Given the description of an element on the screen output the (x, y) to click on. 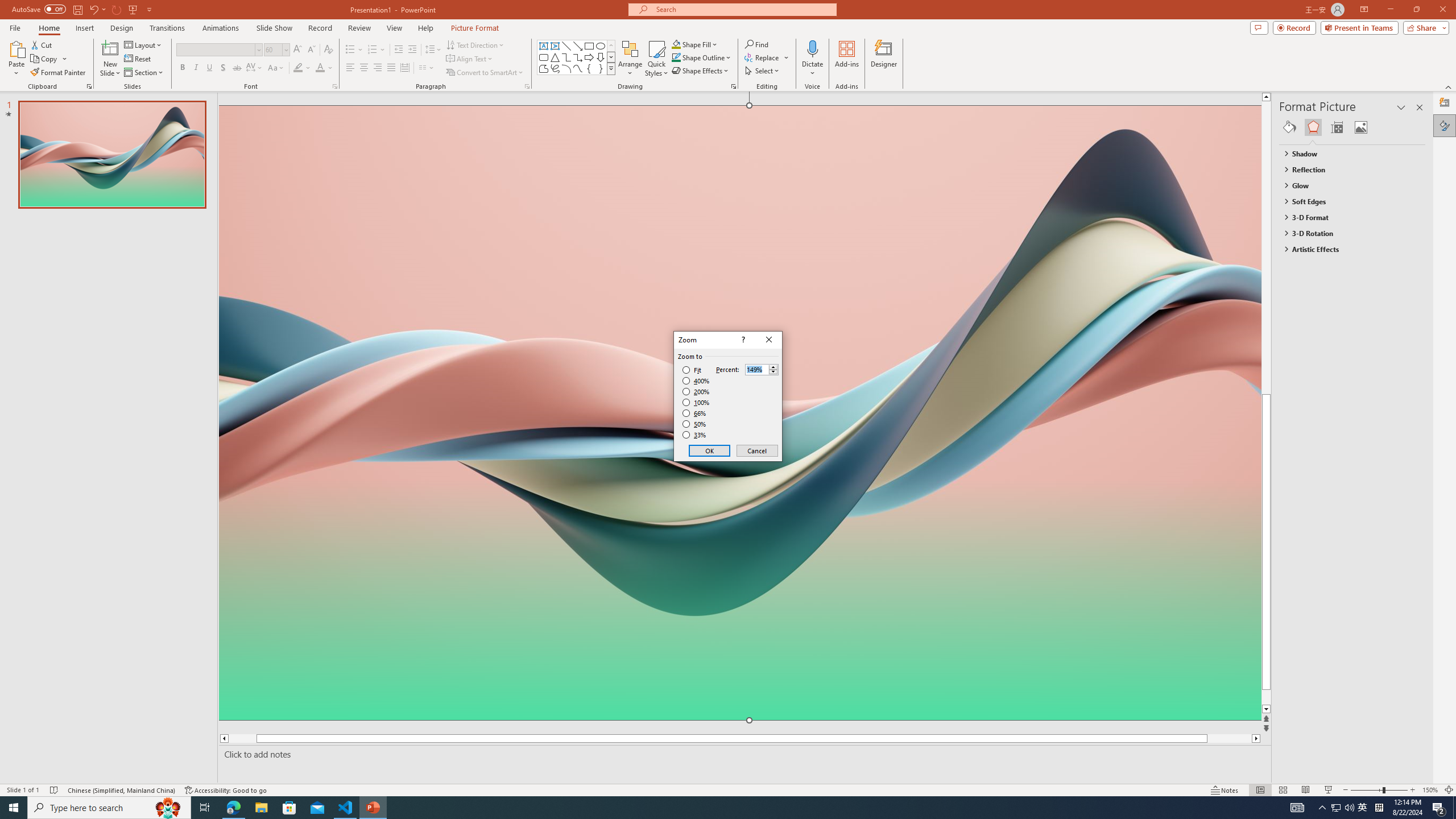
Slide (111, 154)
Text Box (543, 45)
Artistic Effects (1347, 248)
Decrease Indent (398, 49)
PowerPoint - 1 running window (373, 807)
OK (709, 450)
Copy (49, 58)
Microsoft search (742, 9)
Shape Fill Orange, Accent 2 (675, 44)
User Promoted Notification Area (1342, 807)
